Given the description of an element on the screen output the (x, y) to click on. 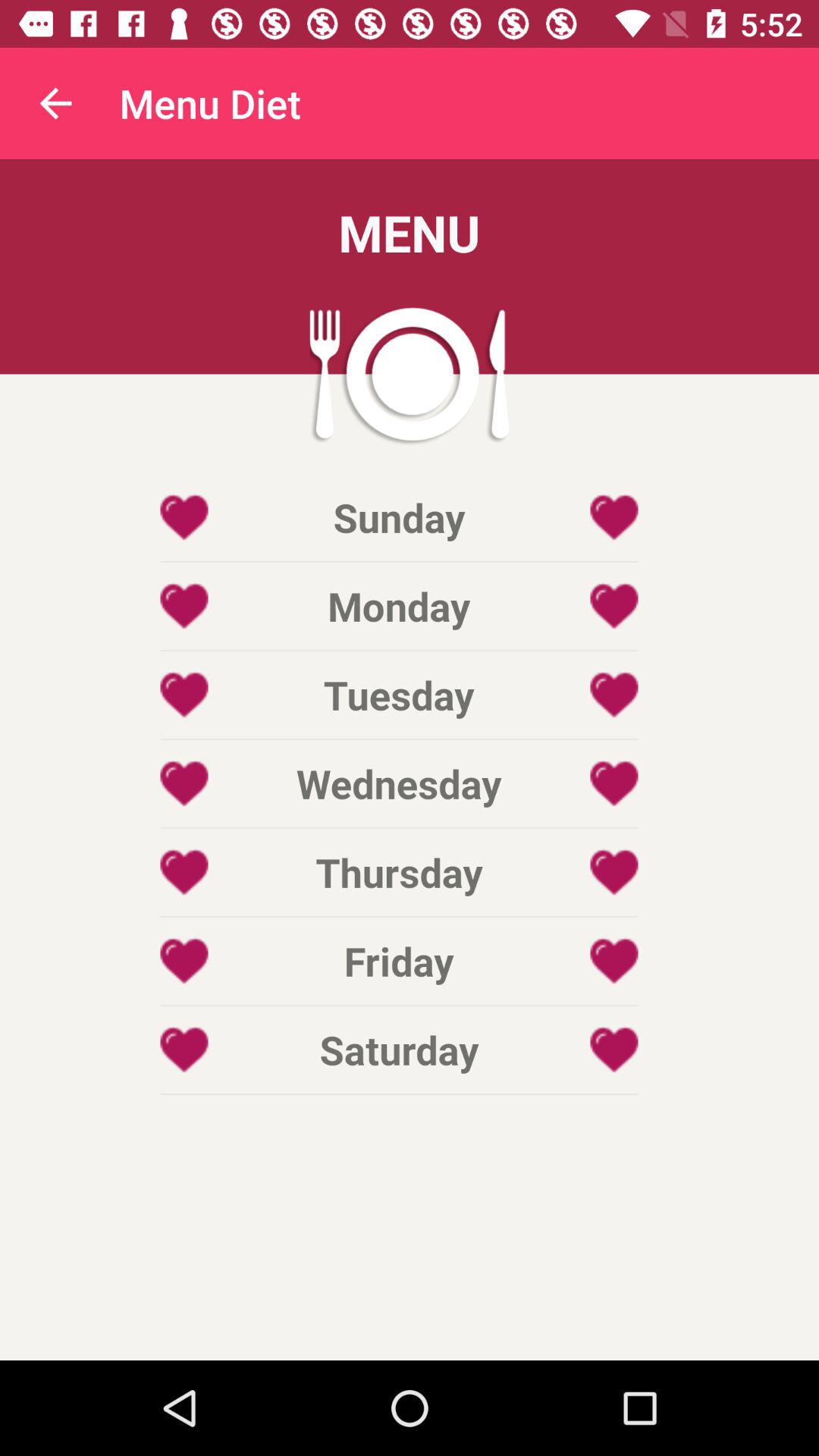
choose the item to the left of the menu diet (55, 103)
